Given the description of an element on the screen output the (x, y) to click on. 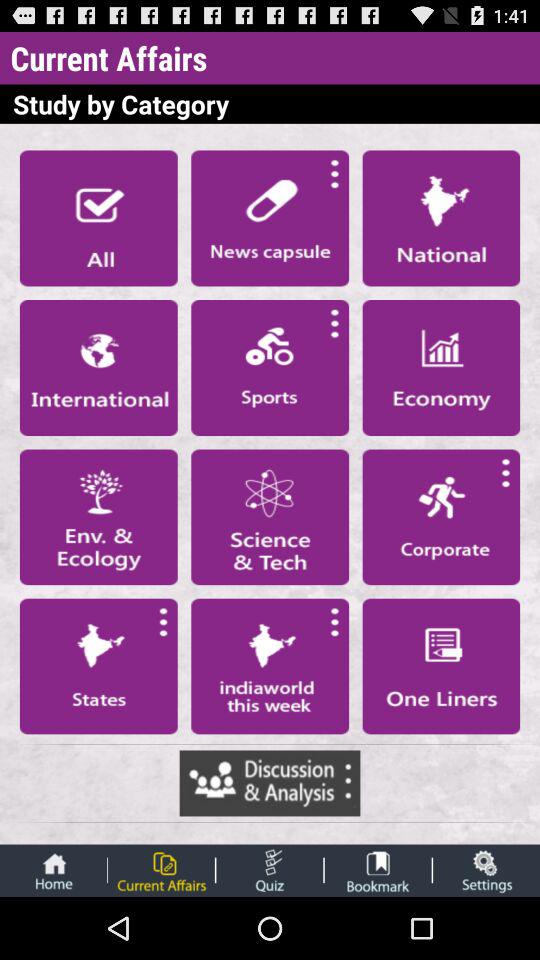
go to quiz (269, 870)
